Given the description of an element on the screen output the (x, y) to click on. 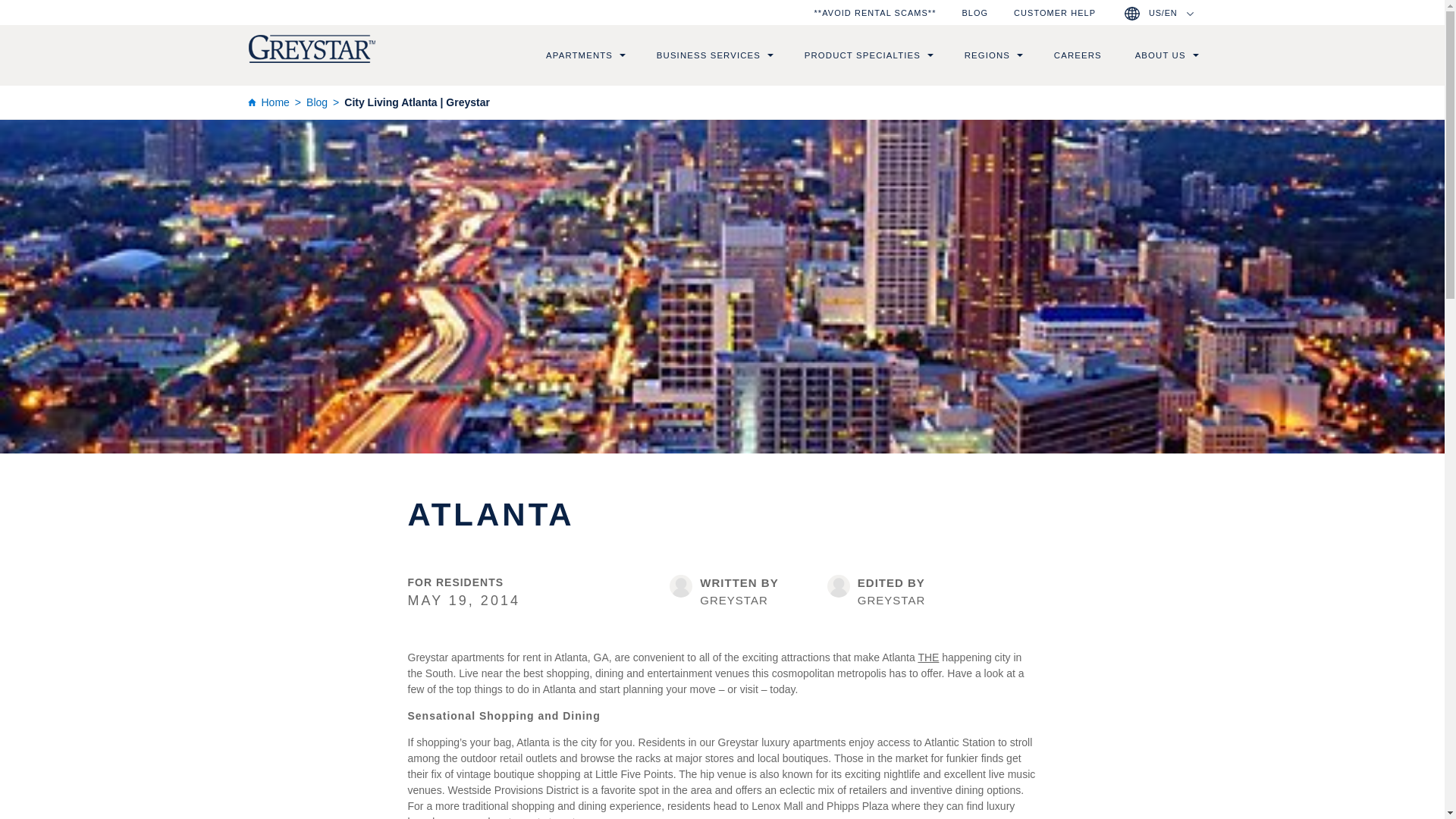
BUSINESS SERVICES (708, 55)
Greystar's Product Specialties  (862, 55)
BLOG (974, 12)
Contact Us (1054, 12)
APARTMENTS (579, 55)
CUSTOMER HELP (1054, 12)
PRODUCT SPECIALTIES (862, 55)
Greystar's Global Business Services (708, 55)
Browse Greystar's apartments (579, 55)
